Given the description of an element on the screen output the (x, y) to click on. 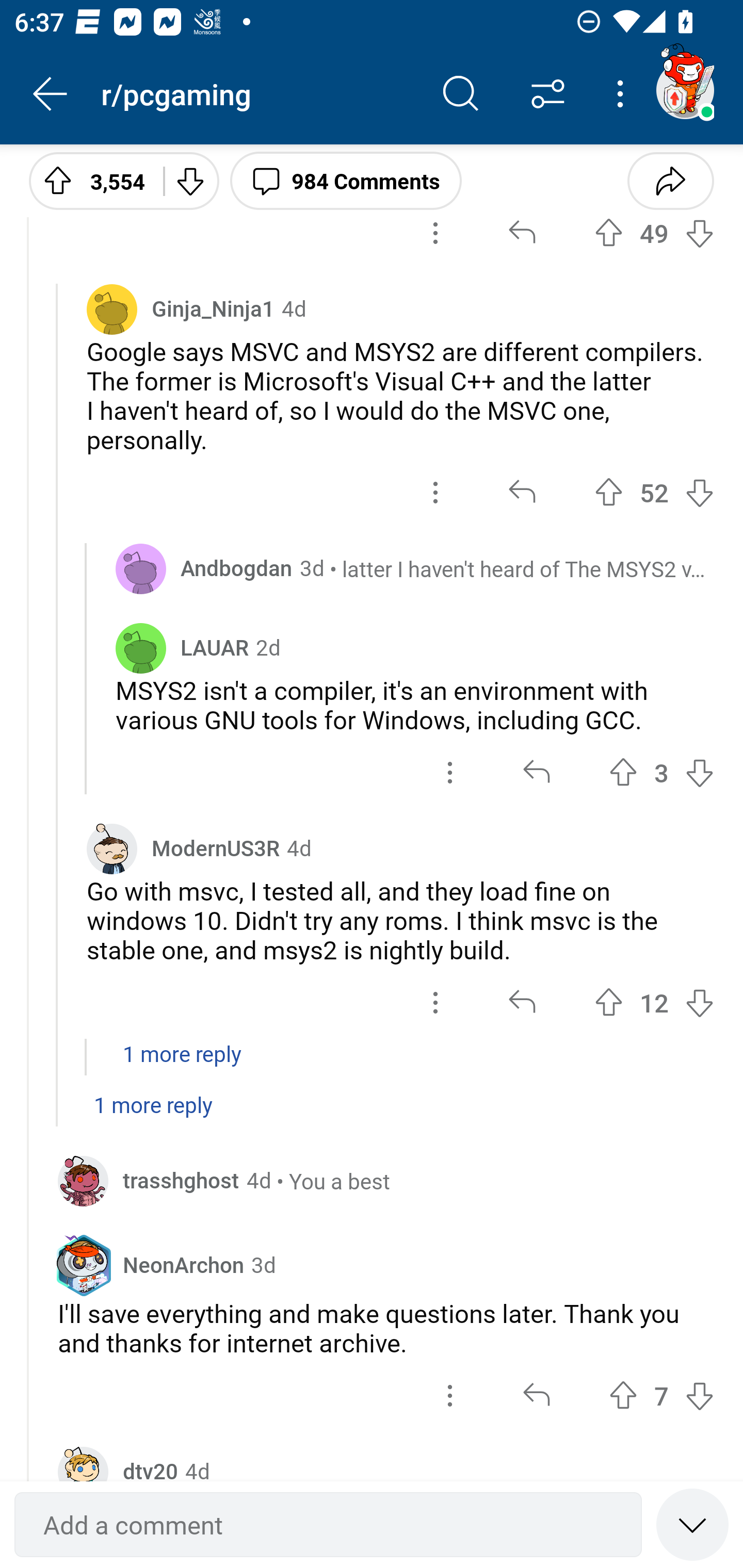
Back (50, 93)
TestAppium002 account (685, 90)
Search comments (460, 93)
Sort comments (547, 93)
More options (623, 93)
r/pcgaming (259, 92)
Upvote 3,554 (88, 180)
Downvote (189, 180)
984 Comments (346, 180)
Share (670, 180)
options (435, 233)
Upvote 49 49 votes Downvote (654, 233)
Avatar (111, 308)
options (435, 492)
Upvote 52 52 votes Downvote (654, 492)
Avatar (140, 569)
Avatar (140, 647)
options (449, 772)
Upvote 3 3 votes Downvote (661, 772)
Custom avatar (111, 848)
options (435, 1001)
Upvote 12 12 votes Downvote (654, 1001)
1 more reply (371, 1063)
1 more reply (371, 1115)
Custom avatar (82, 1180)
options (449, 1395)
Upvote 7 7 votes Downvote (661, 1395)
Speed read (692, 1524)
Add a comment (327, 1524)
